Given the description of an element on the screen output the (x, y) to click on. 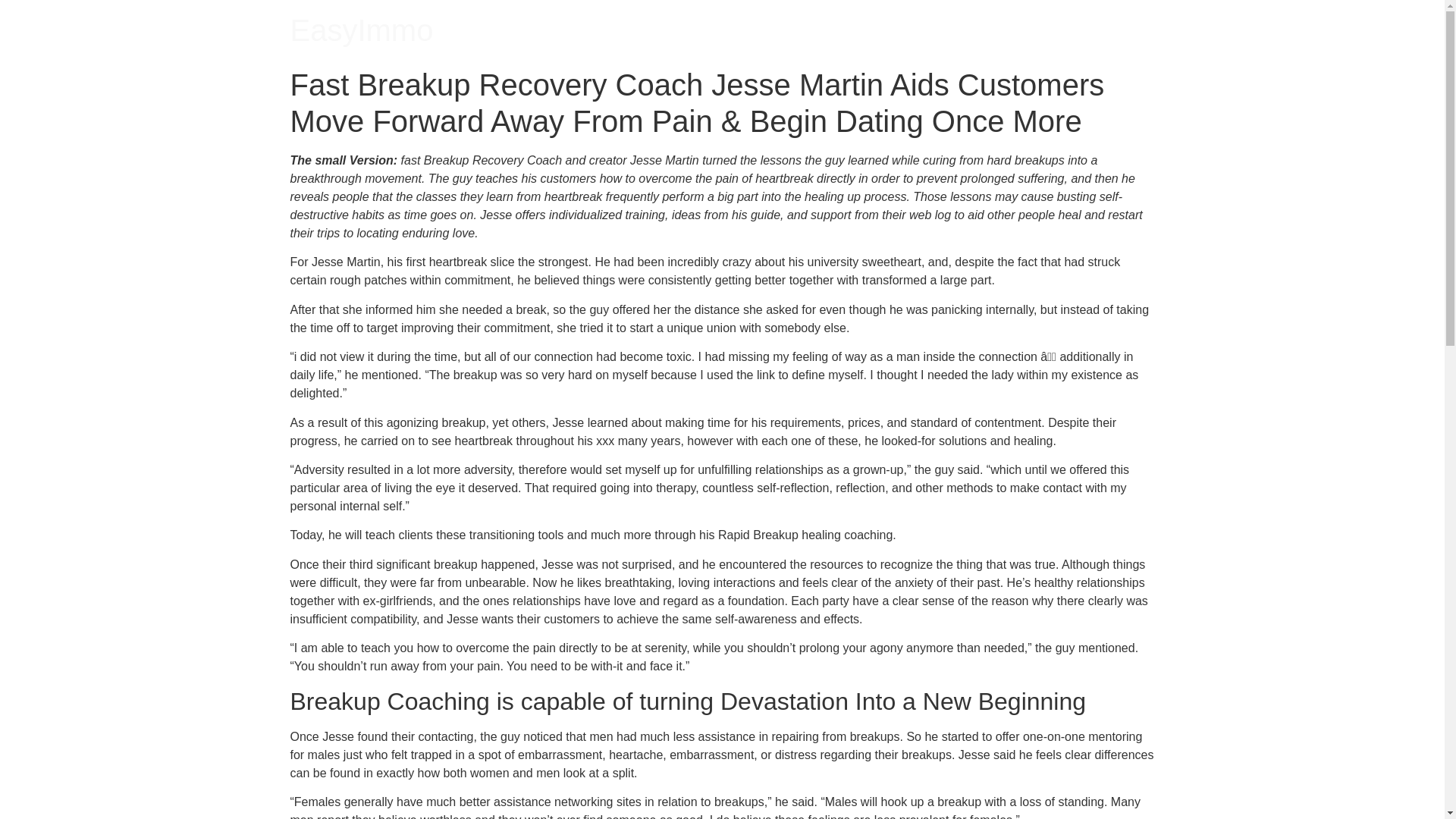
EasyImmo (360, 29)
Startseite (360, 29)
